Given the description of an element on the screen output the (x, y) to click on. 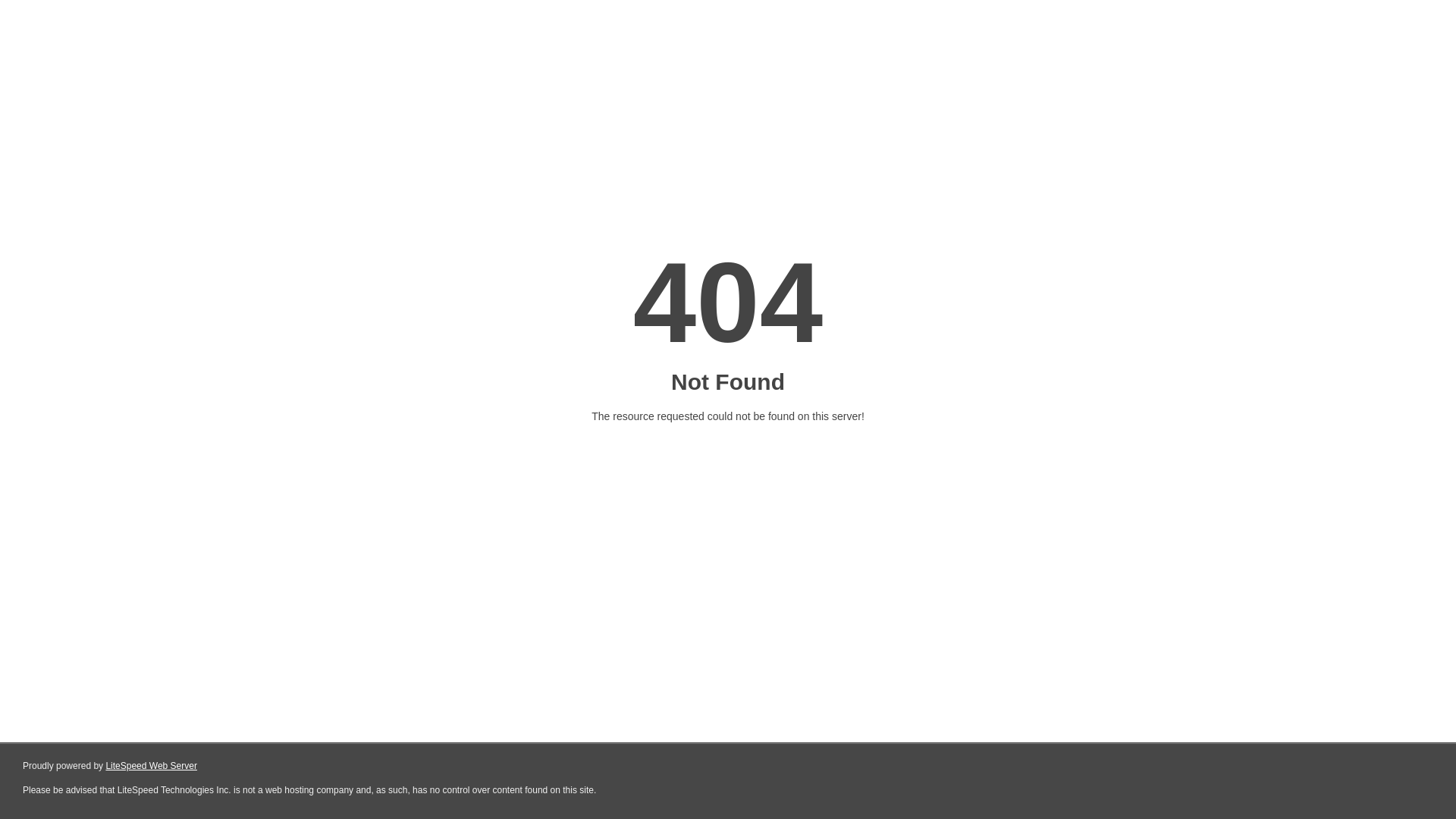
LiteSpeed Web Server Element type: text (151, 765)
